Given the description of an element on the screen output the (x, y) to click on. 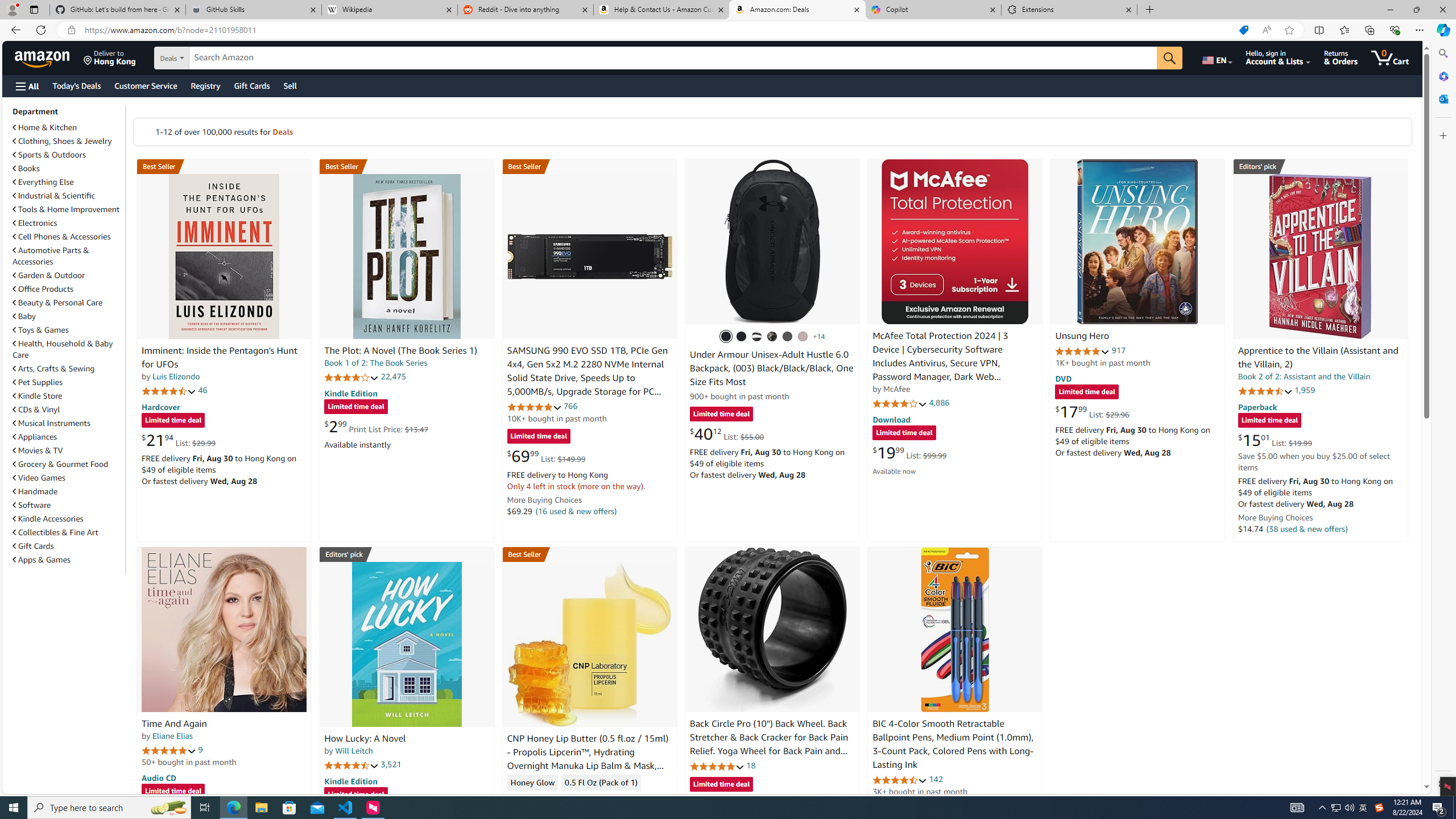
The Plot: A Novel (The Book Series 1) (400, 351)
917 (1117, 350)
Today's Deals (76, 85)
Wikipedia (390, 9)
Hello, sign in Account & Lists (1278, 57)
Baby (67, 315)
Help & Contact Us - Amazon Customer Service (660, 9)
766 (570, 406)
Movies & TV (37, 450)
3,521 (390, 764)
Go (1169, 57)
